Given the description of an element on the screen output the (x, y) to click on. 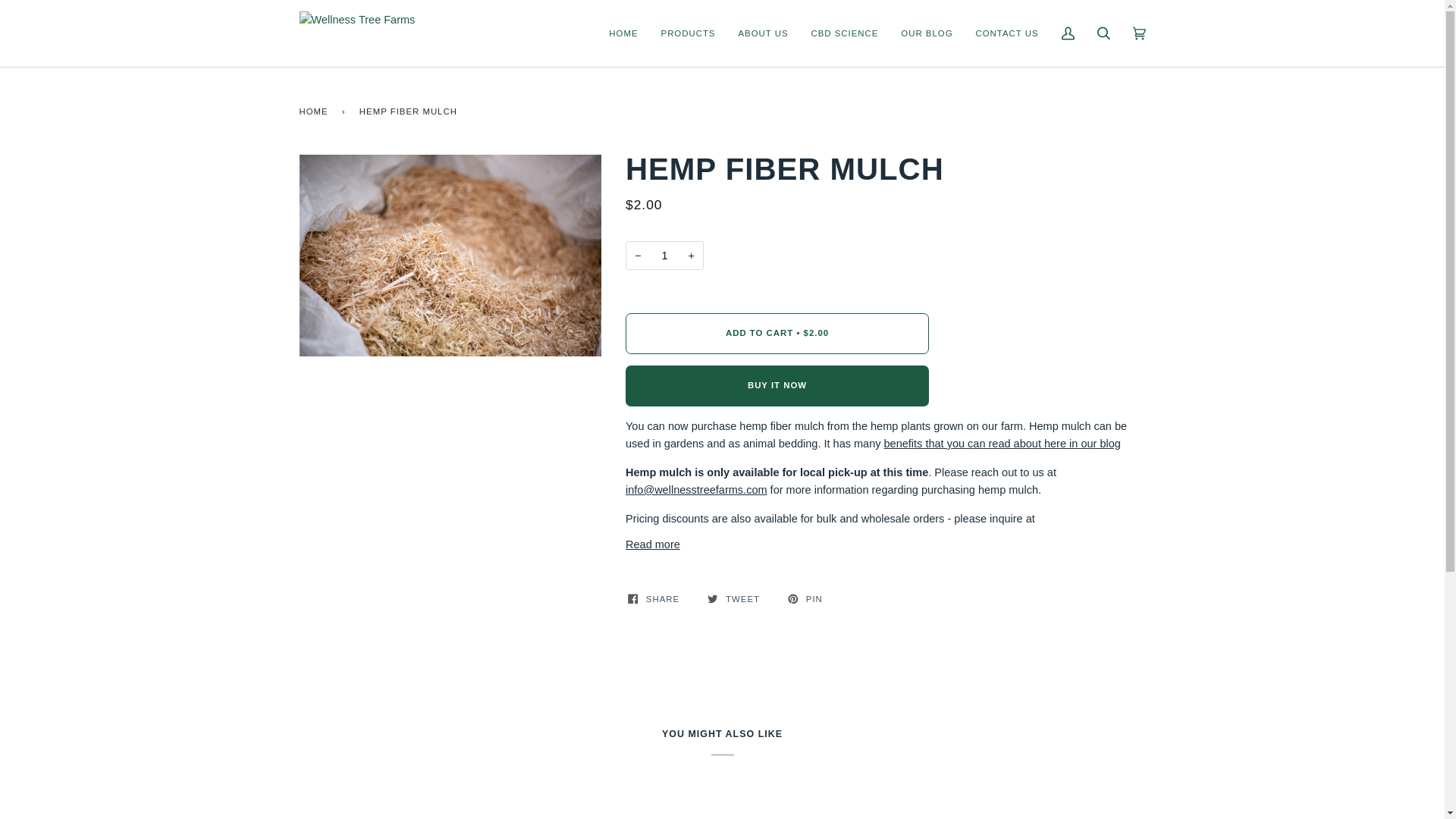
CONTACT US (1006, 33)
ABOUT US (762, 33)
My Account (1066, 33)
CBD SCIENCE (844, 33)
1 (664, 255)
Search (1103, 33)
Back to the frontpage (315, 110)
PRODUCTS (687, 33)
HOME (622, 33)
OUR BLOG (926, 33)
